Given the description of an element on the screen output the (x, y) to click on. 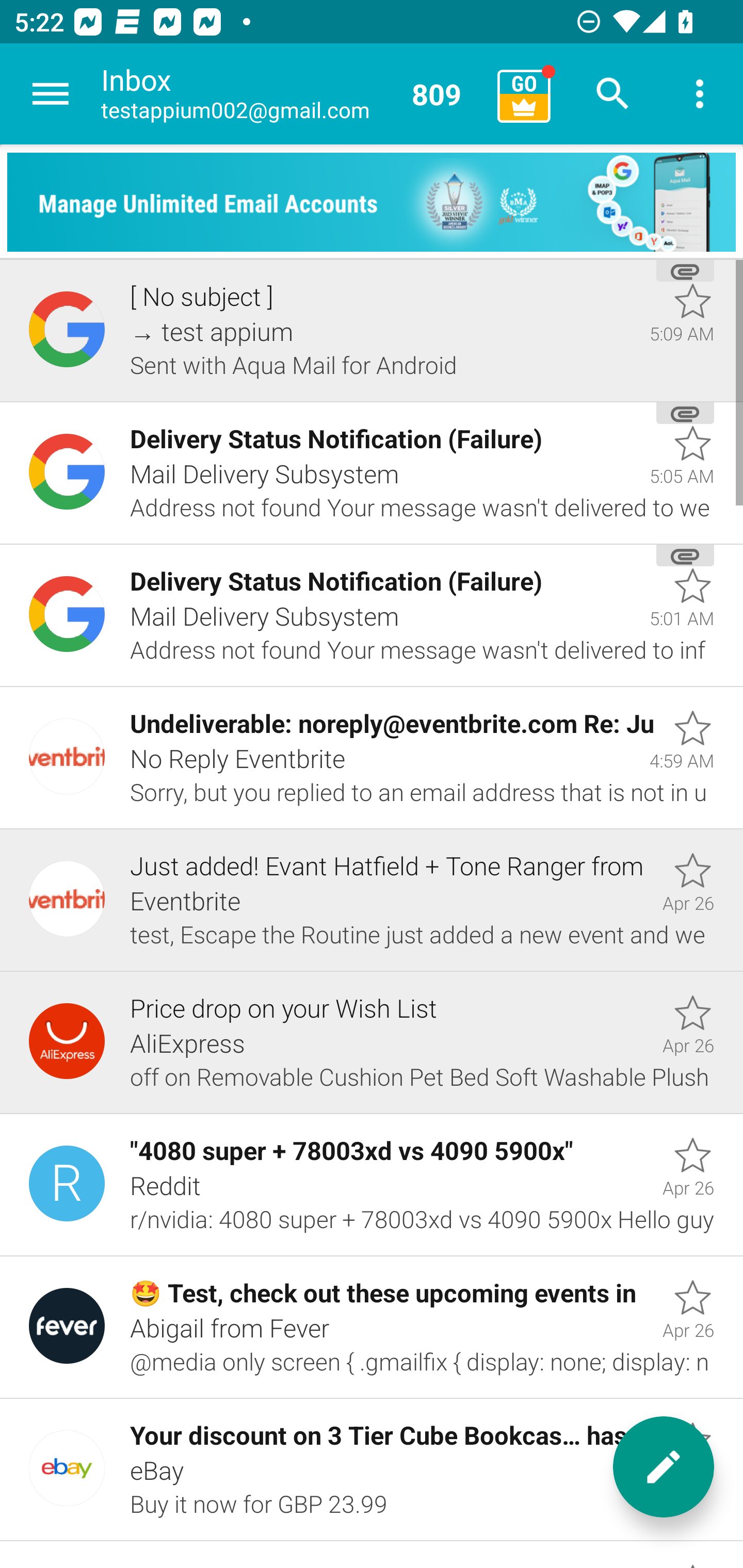
Navigate up (50, 93)
Inbox testappium002@gmail.com 809 (291, 93)
Search (612, 93)
More options (699, 93)
New message (663, 1466)
